Given the description of an element on the screen output the (x, y) to click on. 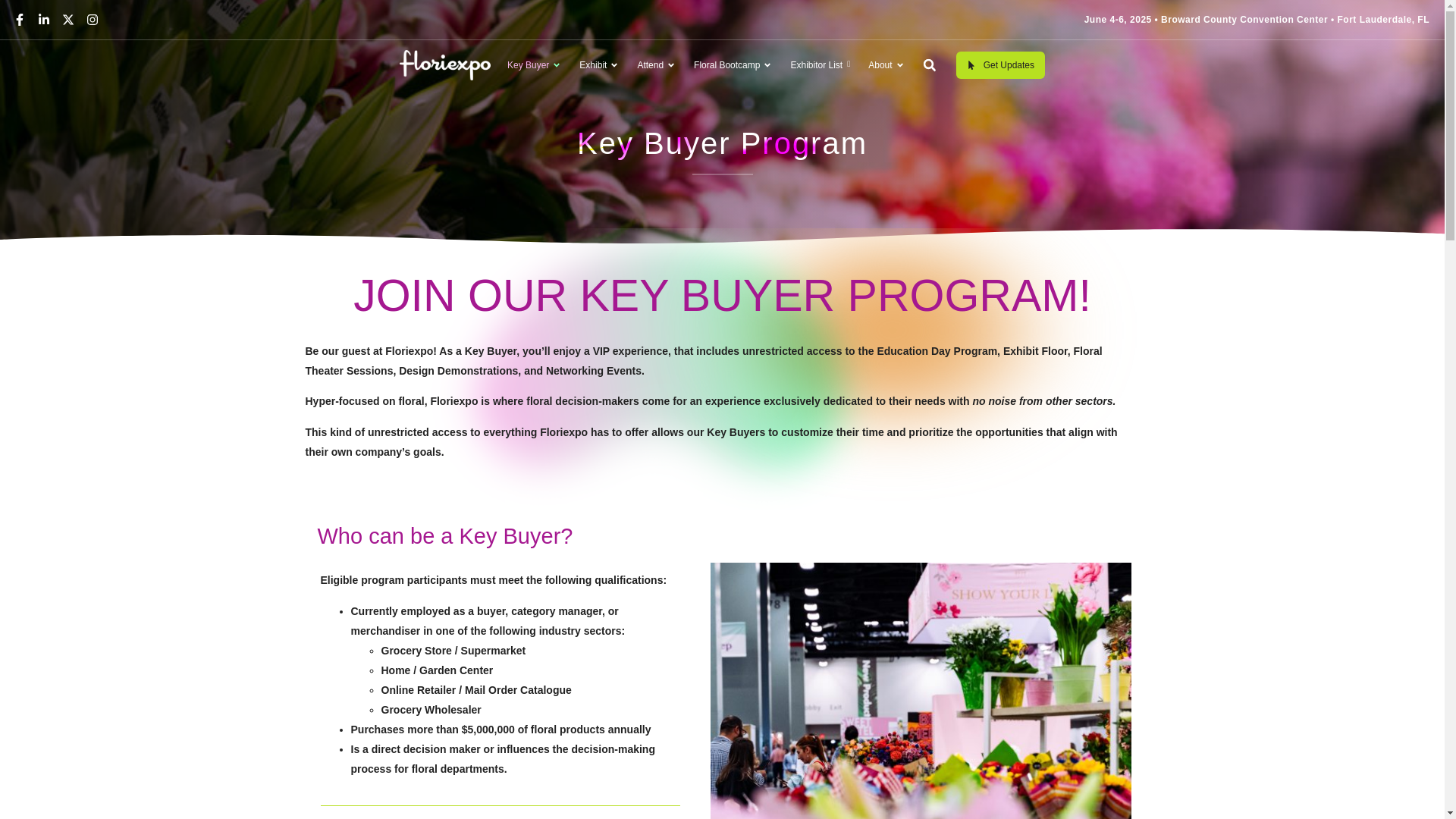
Attend (655, 73)
Exhibit (598, 83)
Key Buyer (533, 95)
Exhibitor List (819, 65)
About (885, 65)
Floral Bootcamp (732, 66)
Floriexpo (444, 65)
